Given the description of an element on the screen output the (x, y) to click on. 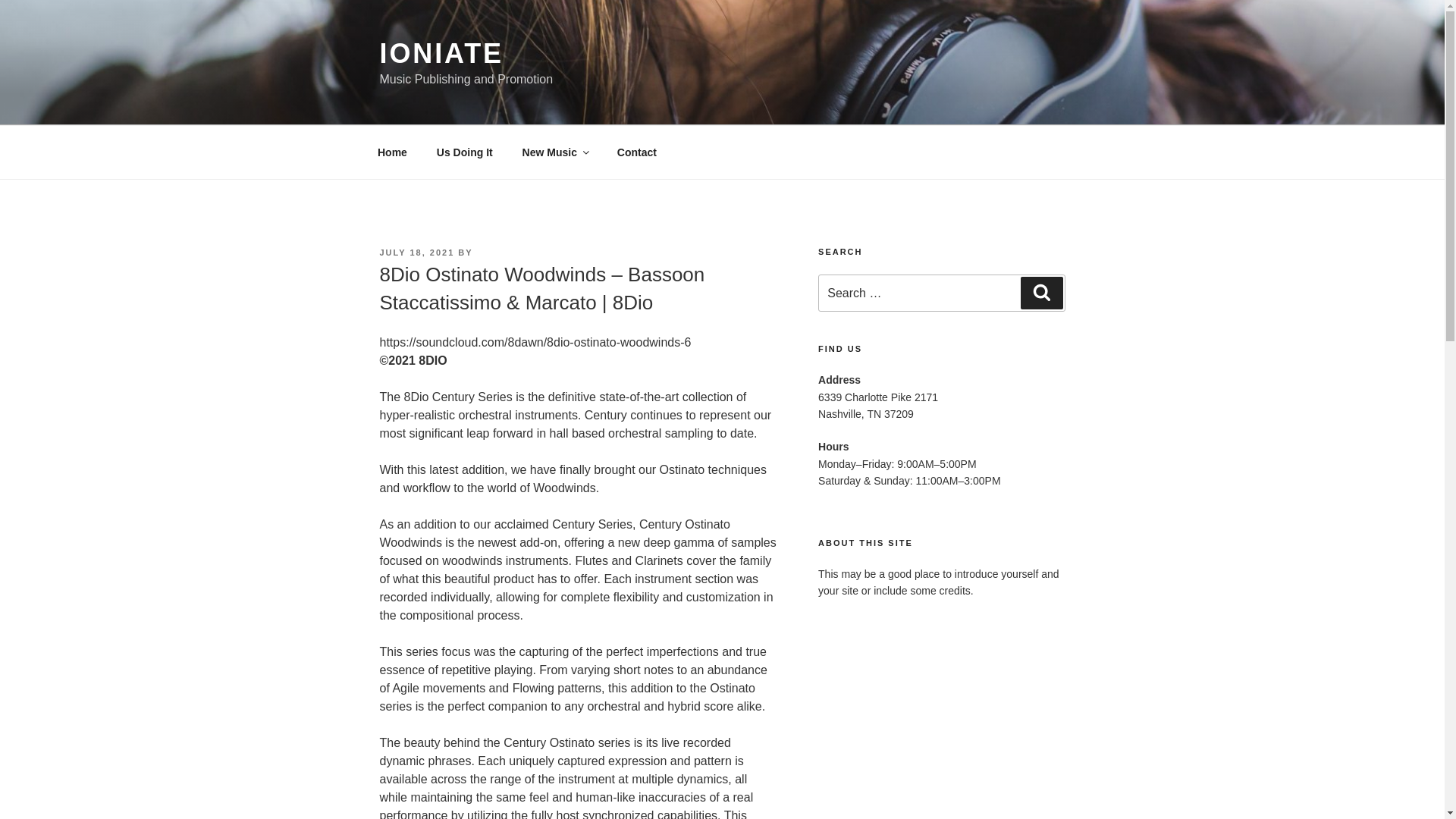
Us Doing It (464, 151)
Contact (636, 151)
IONIATE (440, 52)
JULY 18, 2021 (416, 252)
Search (1041, 292)
New Music (553, 151)
Home (392, 151)
